Given the description of an element on the screen output the (x, y) to click on. 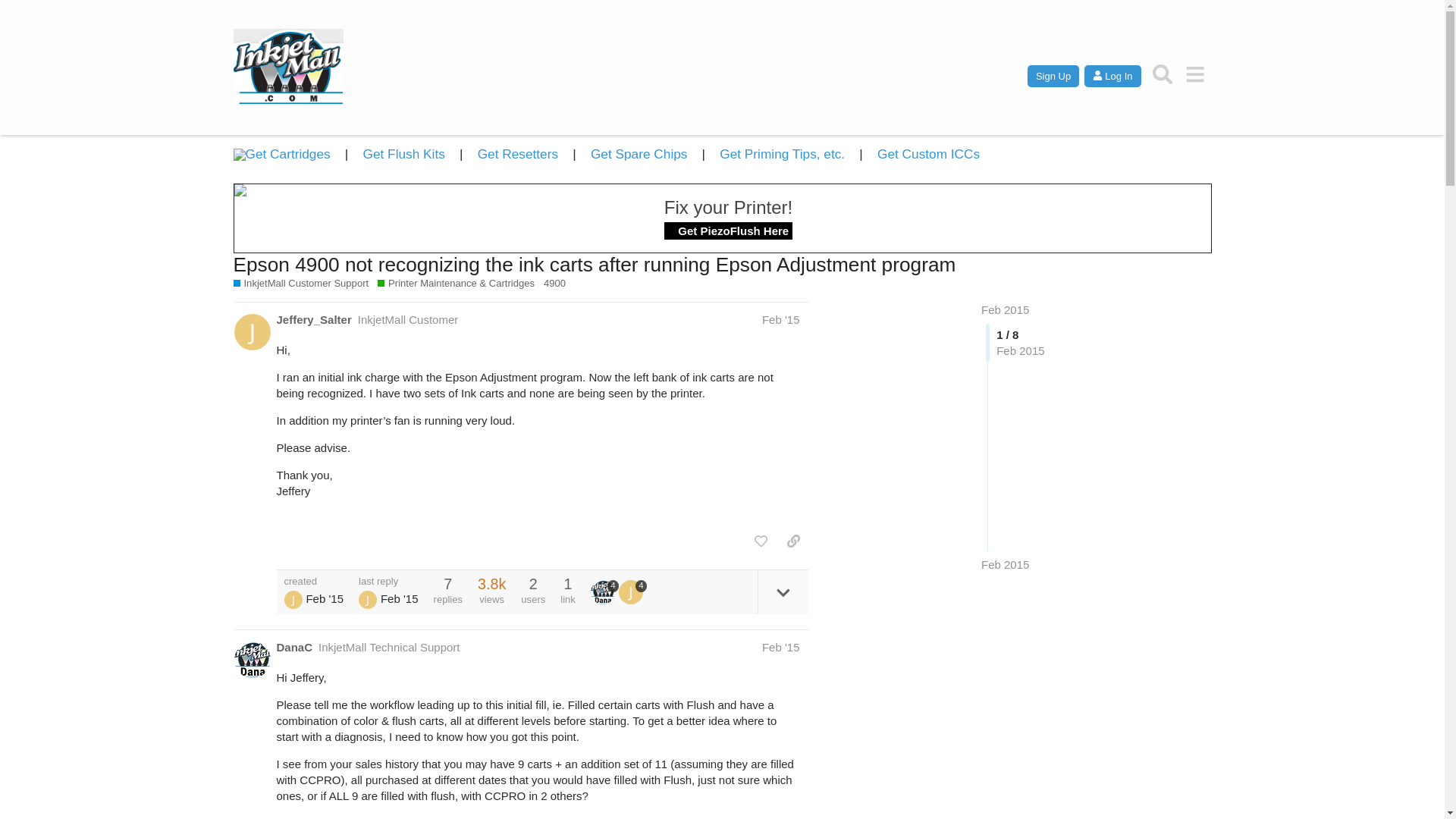
Get Custom ICCs (928, 152)
Feb 18, 2015 9:31 pm (324, 598)
Log In (1112, 75)
Feb 19, 2015 8:39 pm (1005, 563)
Get Resetters (517, 152)
menu (1195, 74)
Get Priming Tips, etc. (781, 152)
Search (1163, 74)
